Given the description of an element on the screen output the (x, y) to click on. 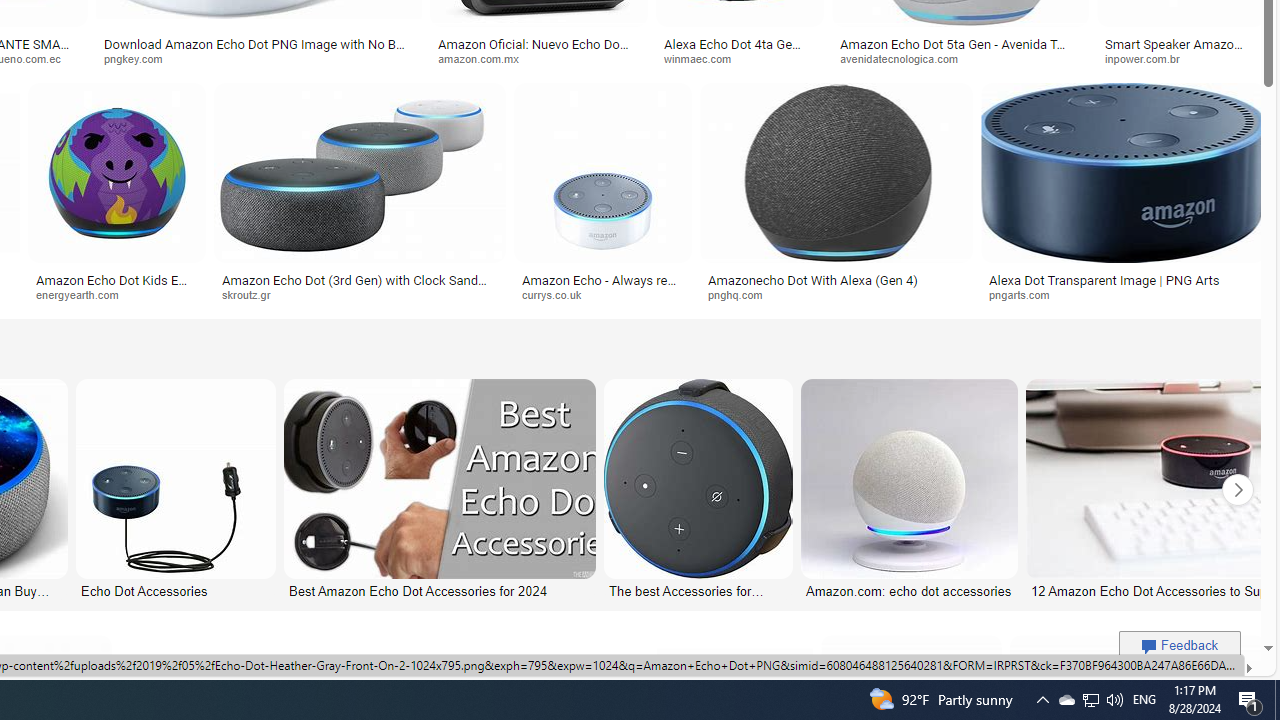
pngkey.com (139, 57)
skroutz.gr (359, 295)
inpower.com.br (1149, 57)
Amazon.com: echo dot accessories (909, 589)
Amazonecho Dot With Alexa (Gen 4)pnghq.comSave (840, 196)
avenidatecnologica.com (960, 58)
energyearth.com (84, 294)
